Given the description of an element on the screen output the (x, y) to click on. 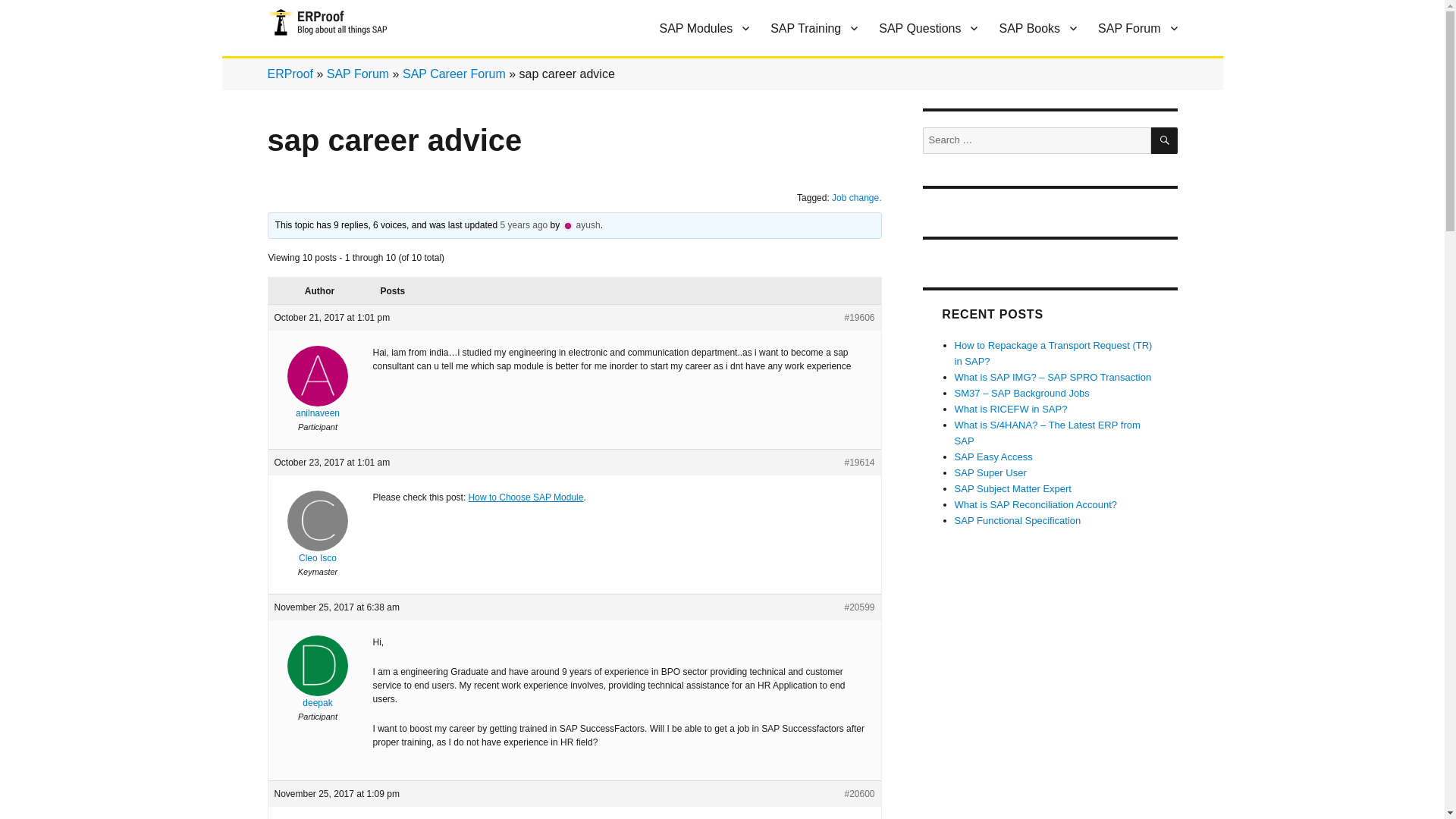
ERProof (309, 60)
SAP Questions (927, 28)
Reply To: sap career advice (524, 225)
SAP Training (813, 28)
View anilnaveen's profile (318, 392)
View ayush's profile (580, 225)
SAP Modules (703, 28)
